Given the description of an element on the screen output the (x, y) to click on. 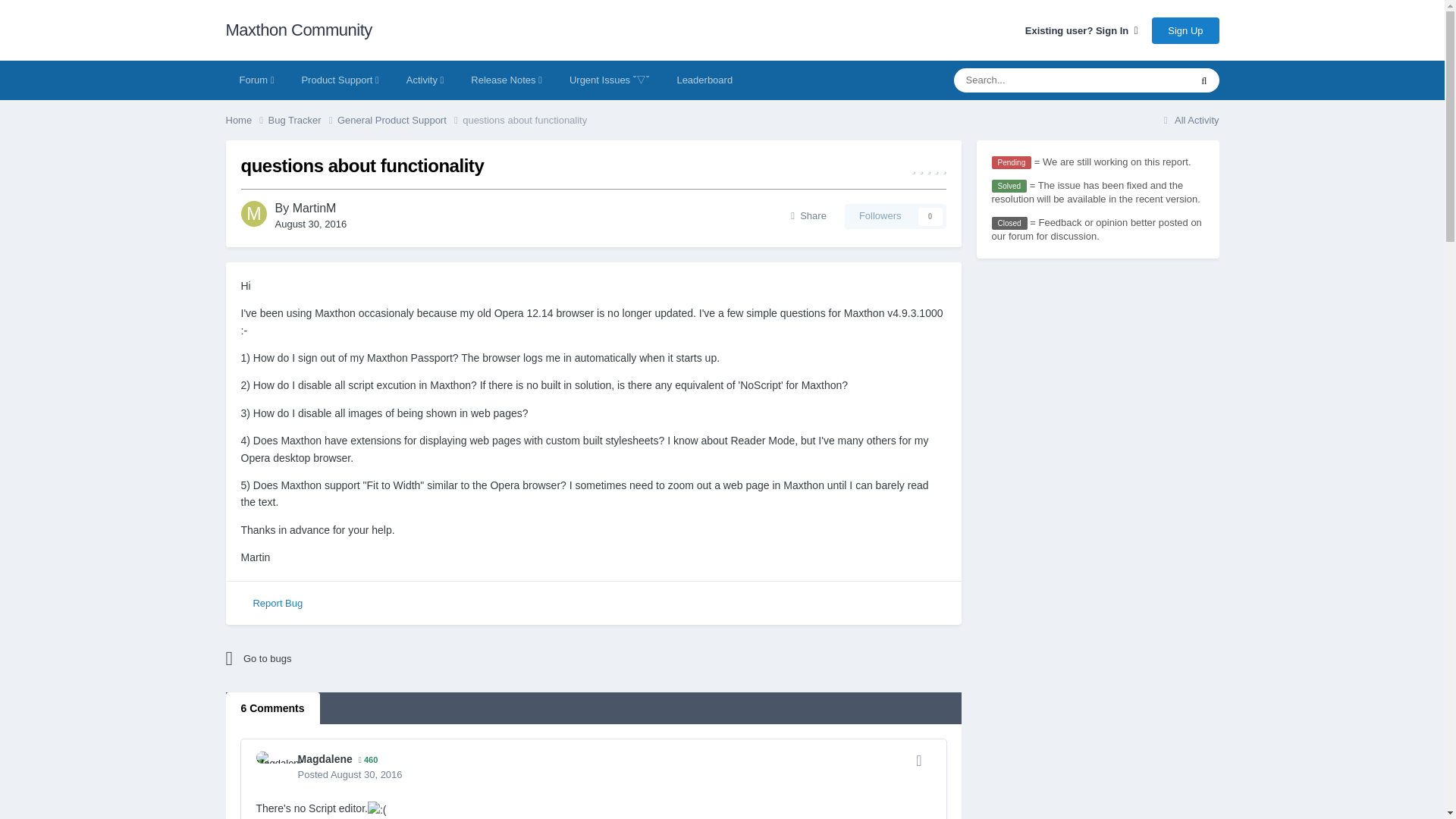
Maxthon Community (298, 30)
 Share (808, 215)
MartinM (314, 207)
Product Support (338, 79)
Report Bug (277, 603)
Activity (425, 79)
Go to General Product Support (358, 658)
General Product Support (400, 120)
Home (246, 120)
Leaderboard (703, 79)
Go to MartinM's profile (253, 213)
6 Comments (272, 707)
Go to Magdalene's profile (324, 758)
Home (246, 120)
All Activity (1188, 120)
